Given the description of an element on the screen output the (x, y) to click on. 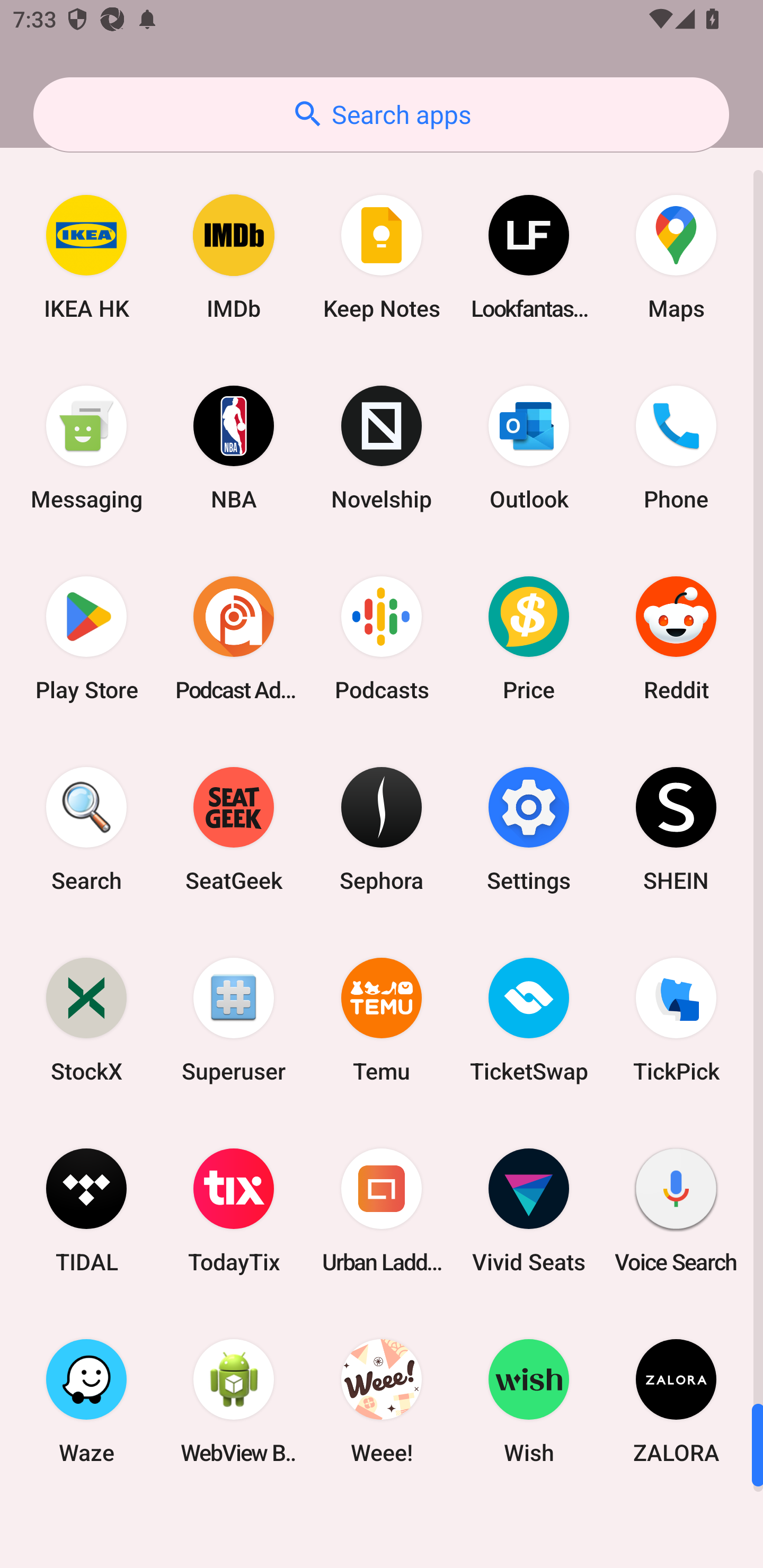
  Search apps (381, 114)
IKEA HK (86, 256)
IMDb (233, 256)
Keep Notes (381, 256)
Lookfantastic (528, 256)
Maps (676, 256)
Messaging (86, 447)
NBA (233, 447)
Novelship (381, 447)
Outlook (528, 447)
Phone (676, 447)
Play Store (86, 637)
Podcast Addict (233, 637)
Podcasts (381, 637)
Price (528, 637)
Reddit (676, 637)
Search (86, 829)
SeatGeek (233, 829)
Sephora (381, 829)
Settings (528, 829)
SHEIN (676, 829)
StockX (86, 1019)
Superuser (233, 1019)
Temu (381, 1019)
TicketSwap (528, 1019)
TickPick (676, 1019)
TIDAL (86, 1210)
TodayTix (233, 1210)
Urban Ladder (381, 1210)
Vivid Seats (528, 1210)
Voice Search (676, 1210)
Waze (86, 1400)
WebView Browser Tester (233, 1400)
Weee! (381, 1400)
Wish (528, 1400)
ZALORA (676, 1400)
